Given the description of an element on the screen output the (x, y) to click on. 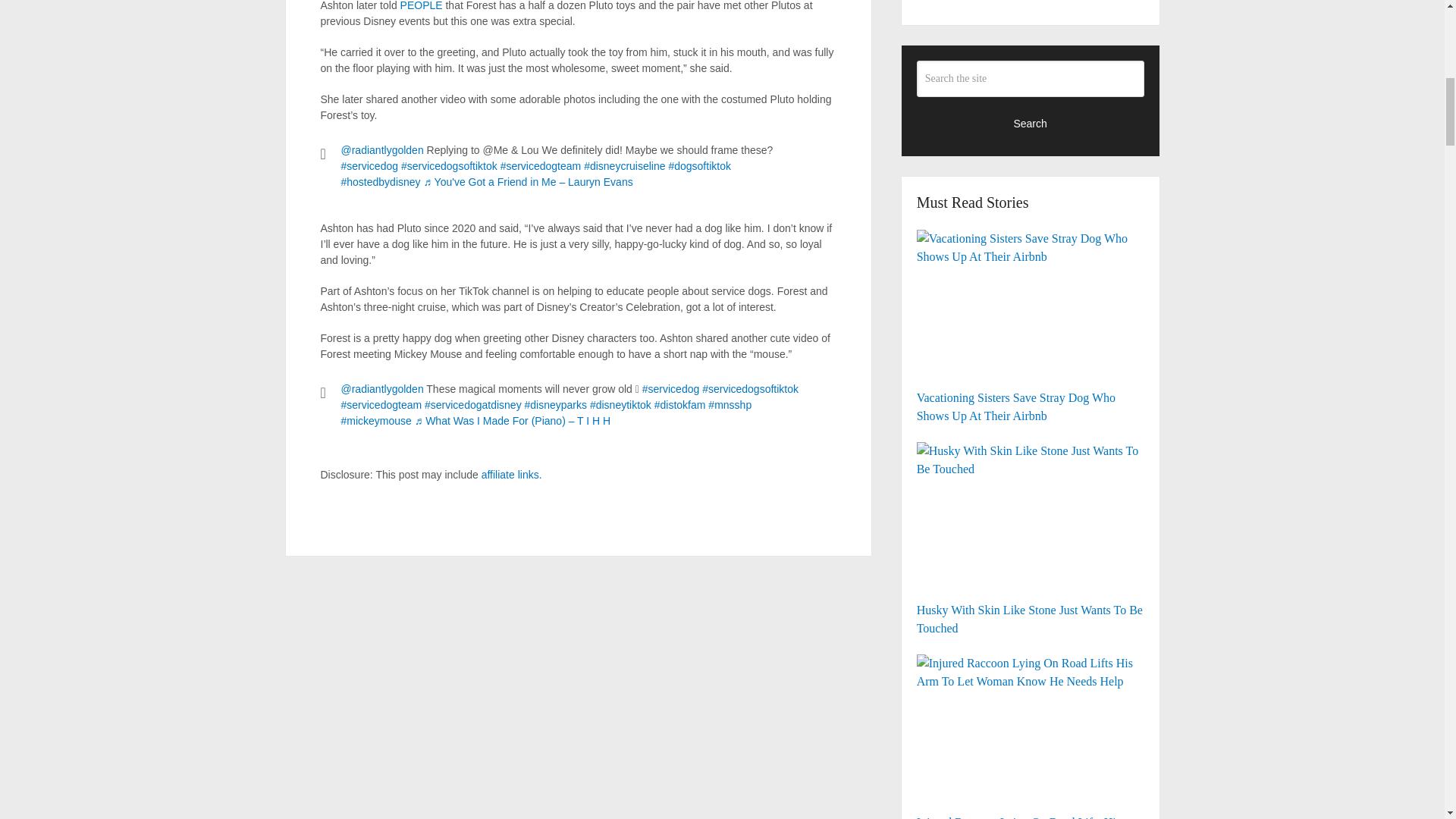
servicedog (369, 165)
servicedogteam (540, 165)
servicedogsoftiktok (449, 165)
